Given the description of an element on the screen output the (x, y) to click on. 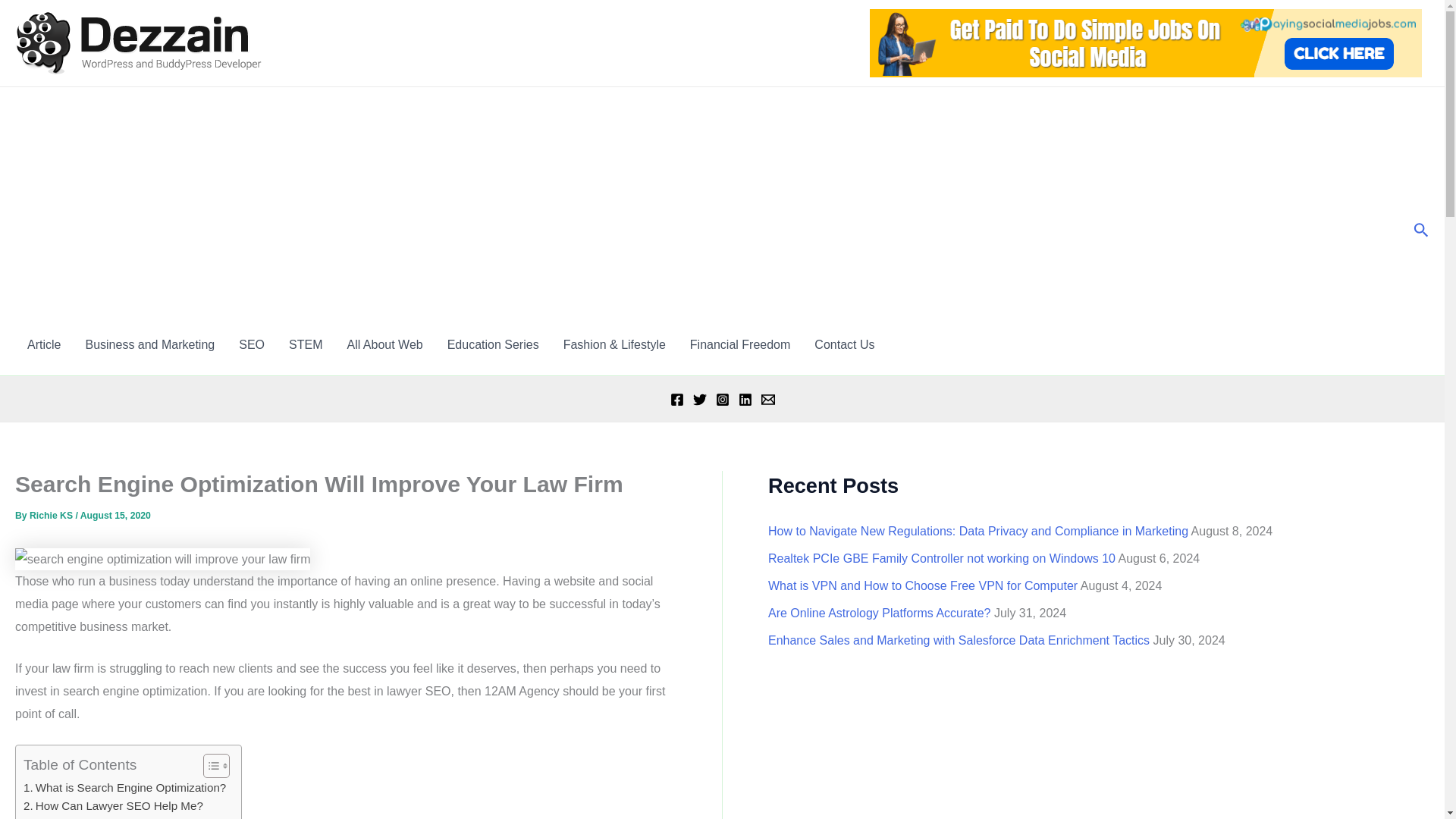
any inquiries? (844, 344)
Financial Freedom (740, 344)
View all posts by Richie KS (52, 515)
What is Search Engine Optimization? (124, 787)
Hire Law Firm SEO Experts Today (117, 817)
Education Series (493, 344)
Contact Us (844, 344)
All About Web (383, 344)
Hire Law Firm SEO Experts Today (117, 817)
How Can Lawyer SEO Help Me? (113, 805)
